Given the description of an element on the screen output the (x, y) to click on. 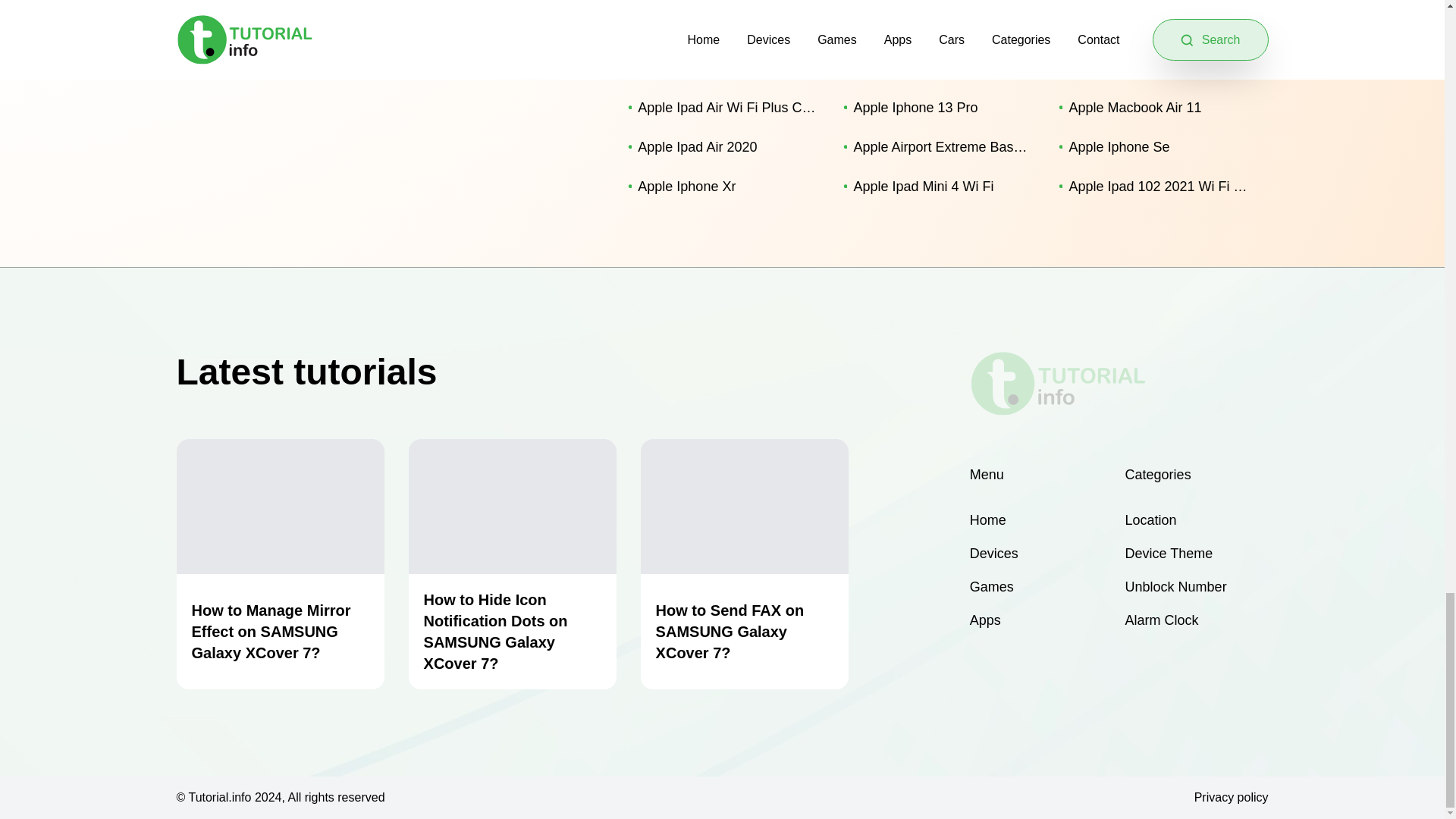
Apple Macbook Air 11 (1154, 107)
Apple Ipad Mini 2021 Wifi (1154, 28)
Apple Ipad Air Wi Fi Plus Cellular (723, 107)
Apple Iphone Se 2022 (723, 67)
Apple Iphone Se (1154, 147)
Apple Ipad Air 2022 (938, 67)
Apple Iphone 13 Pro (938, 107)
Apple Ipad 102 2021 Wi Fi Plus Cellular (1154, 186)
Apple Ipad Air Wi Fi (1154, 67)
Apple Ipad Mini 2021 Wifi Plus Cellular (938, 28)
Apple Ipad Air 2020 (723, 147)
Apple Ipad Mini 4 Wi Fi (938, 186)
Apple Ipad Pro 11 2021 Wifi Plus Cellular (723, 28)
Apple Iphone Xr (723, 186)
Apple Airport Extreme Base Station (938, 147)
